Given the description of an element on the screen output the (x, y) to click on. 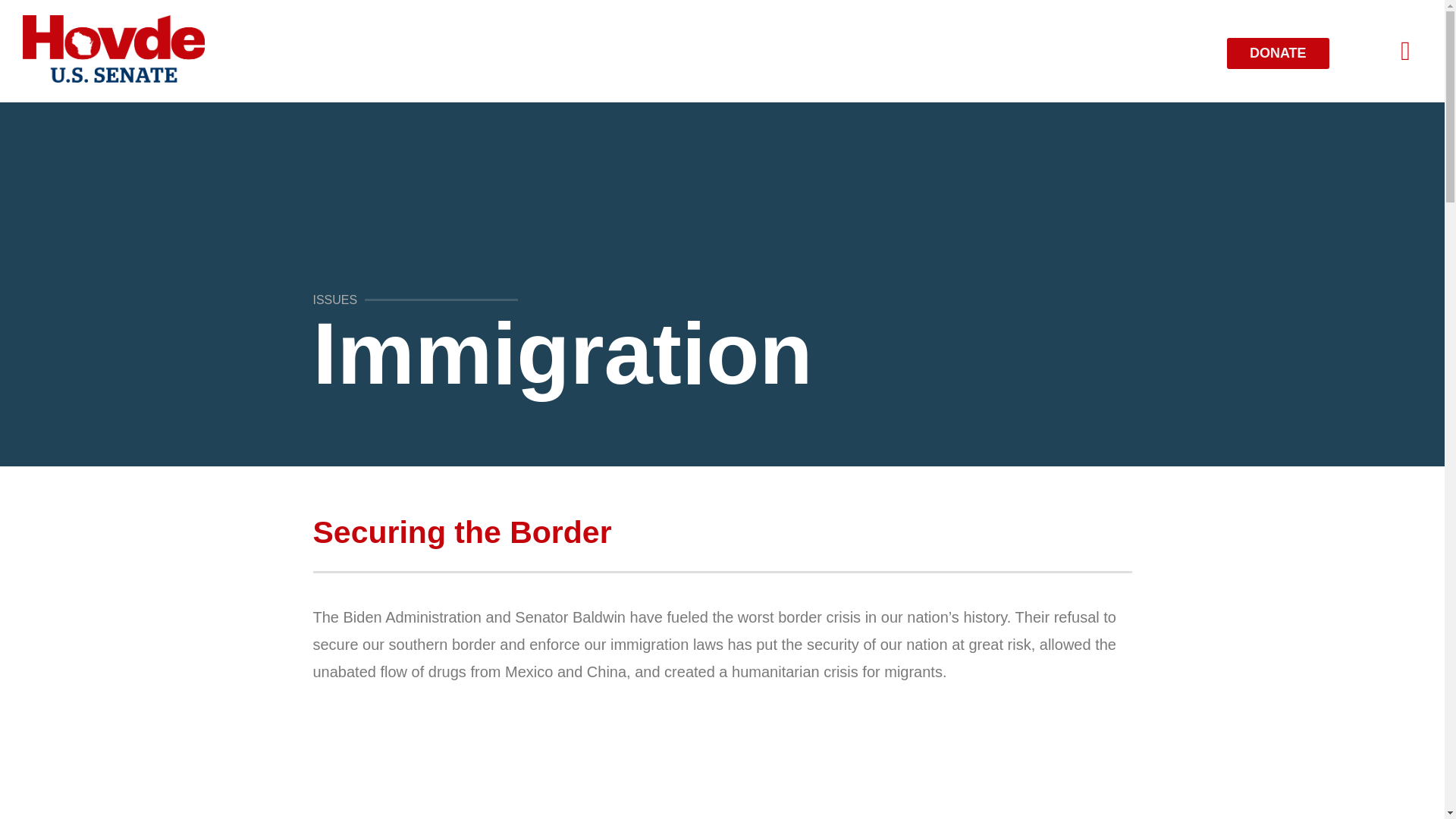
Fix the Problem - Eric Hovde for U.S. Senate (722, 763)
DONATE (1278, 52)
hovde-u-s-senate-logo (114, 48)
